Given the description of an element on the screen output the (x, y) to click on. 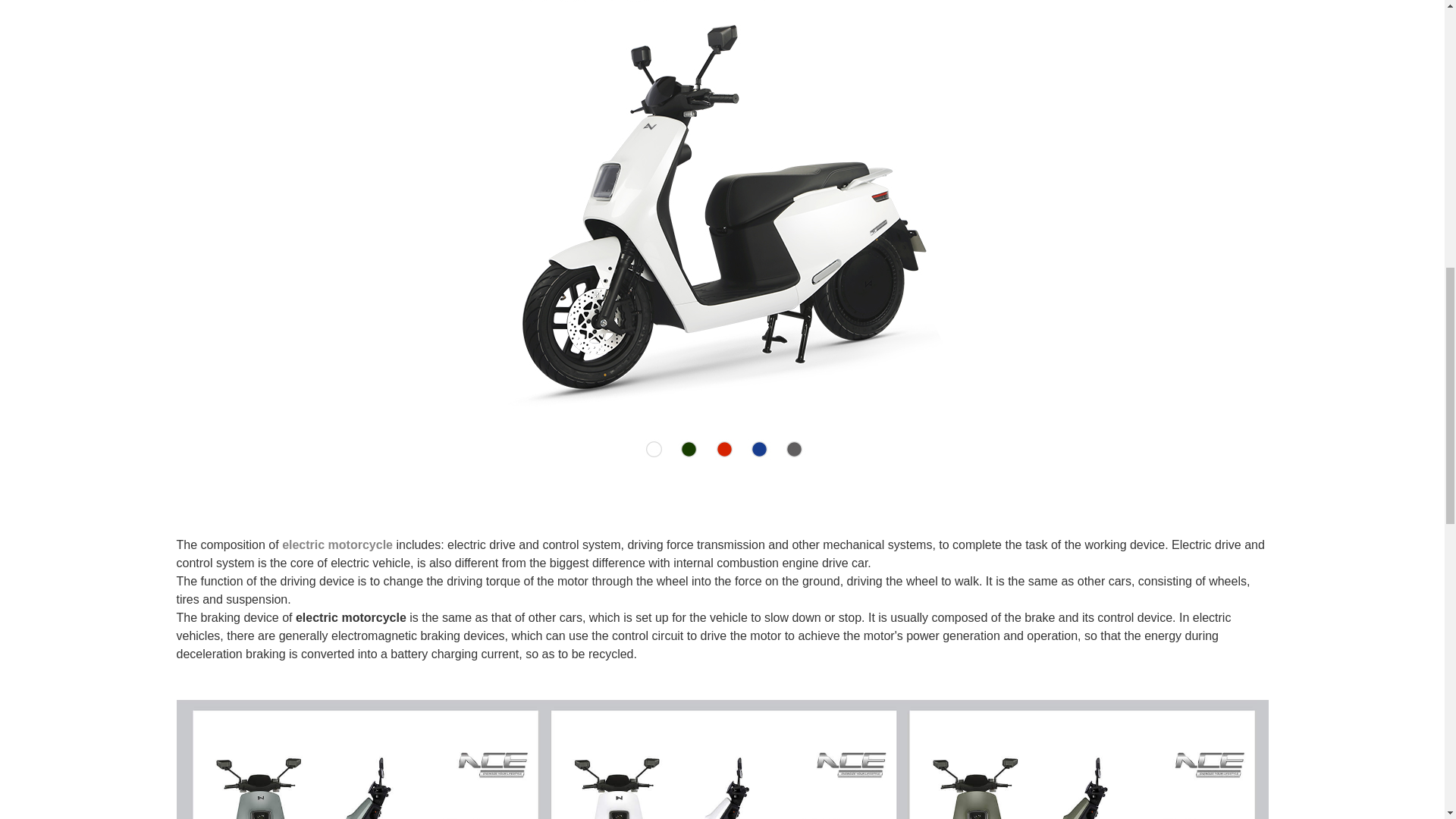
53016487127561000.jpg (722, 759)
